Given the description of an element on the screen output the (x, y) to click on. 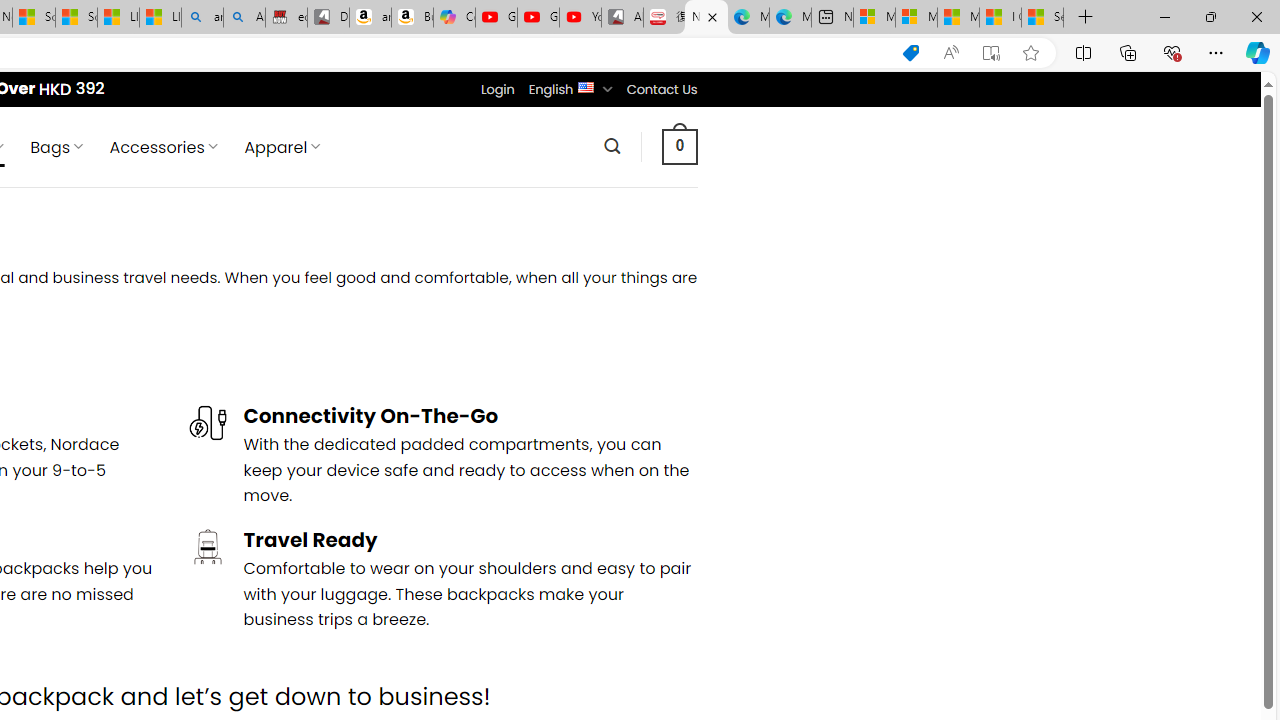
Copilot (453, 17)
Nordace - Business Backpacks (706, 17)
Enter Immersive Reader (F9) (991, 53)
amazon.in/dp/B0CX59H5W7/?tag=gsmcom05-21 (369, 17)
I Gained 20 Pounds of Muscle in 30 Days! | Watch (1000, 17)
